Given the description of an element on the screen output the (x, y) to click on. 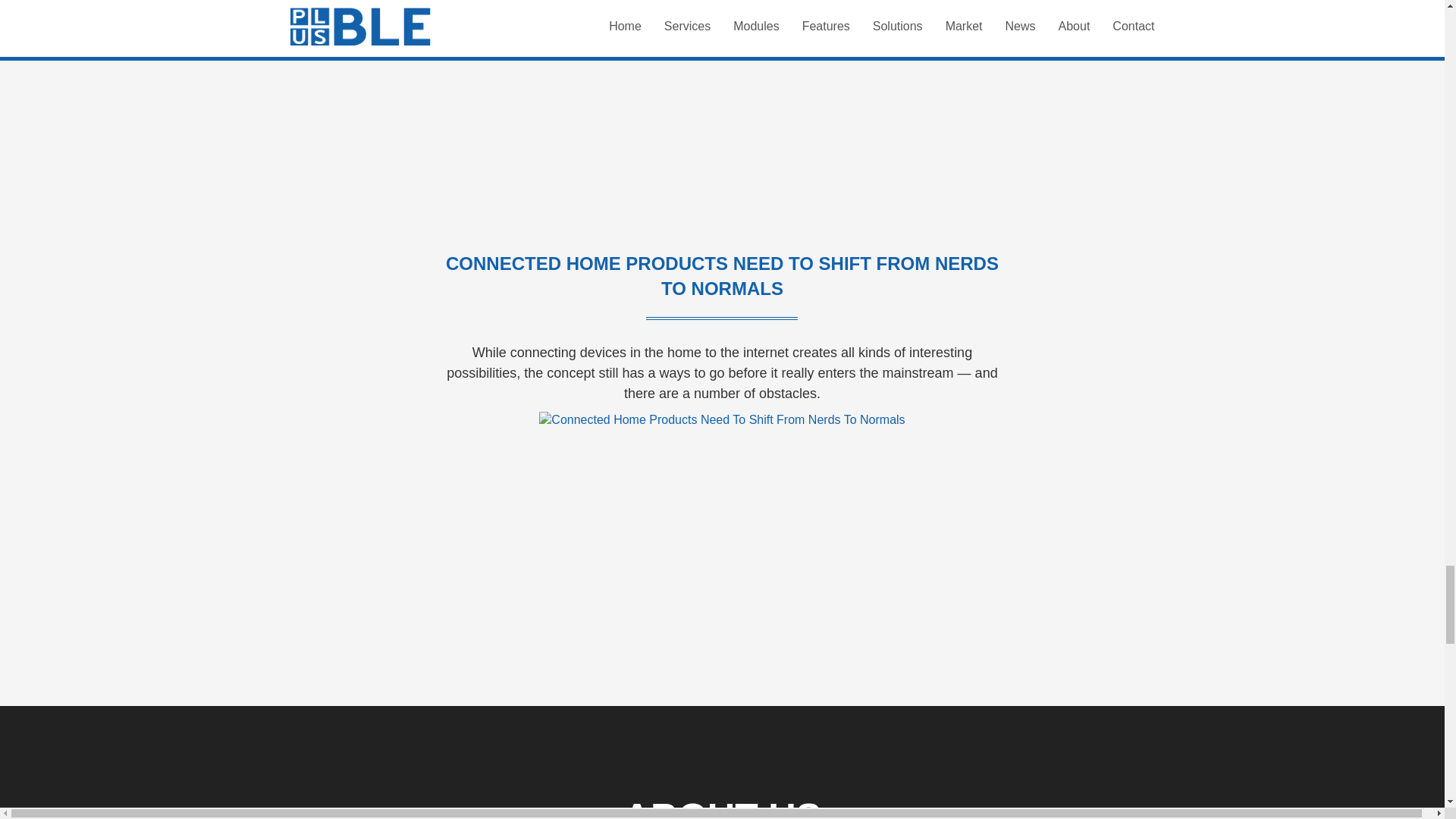
Apple introduces HomeKit for iOS 8 (722, 36)
CONNECTED HOME PRODUCTS NEED TO SHIFT FROM NERDS TO NORMALS (721, 276)
Connected Home Products Need To Shift From Nerds To Normals (721, 420)
